Given the description of an element on the screen output the (x, y) to click on. 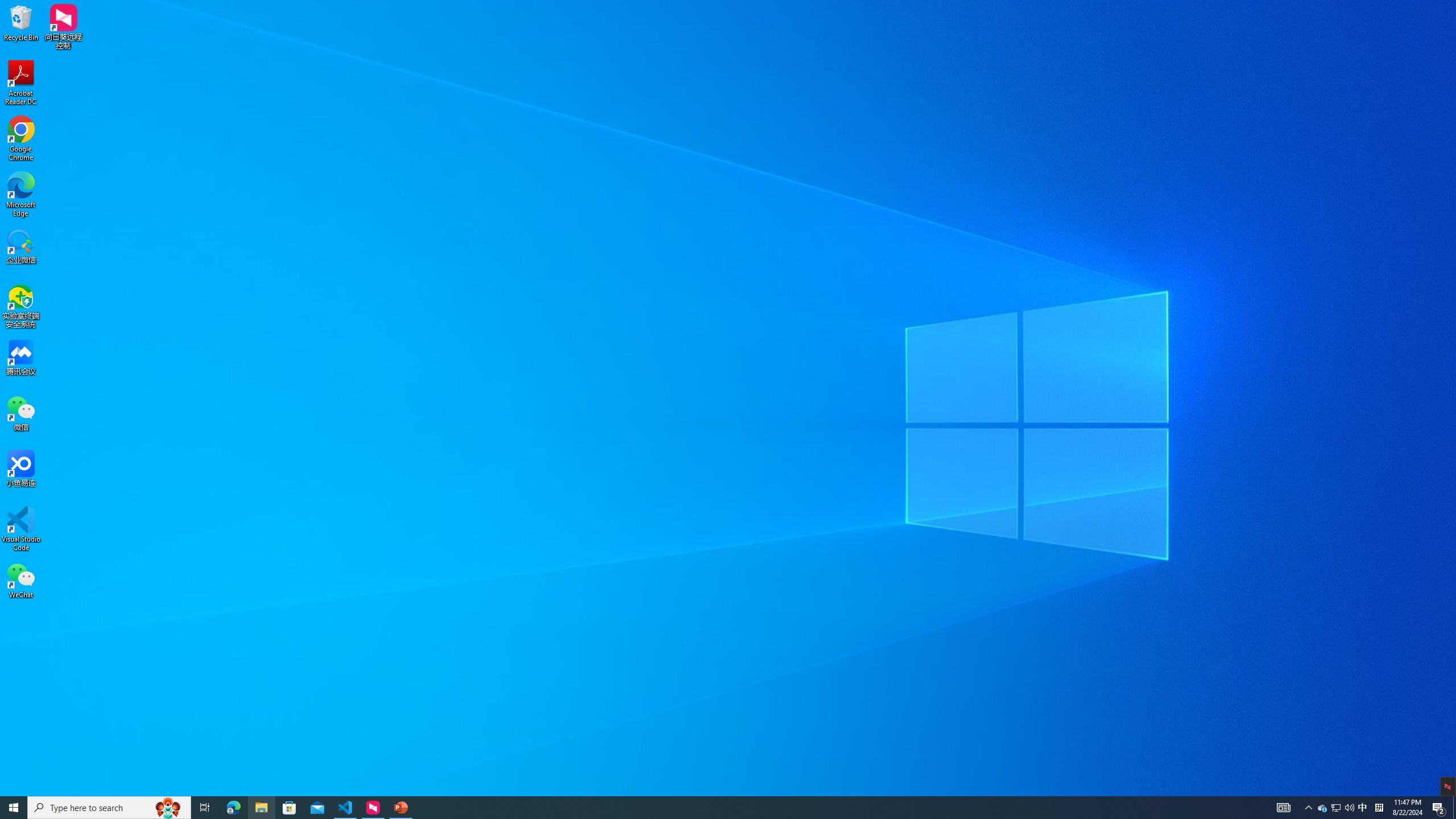
Class: NetUIScrollBar (1441, 447)
Office Clipboard... (88, 85)
Shape Fill Orange, Accent 2 (675, 44)
